Given the description of an element on the screen output the (x, y) to click on. 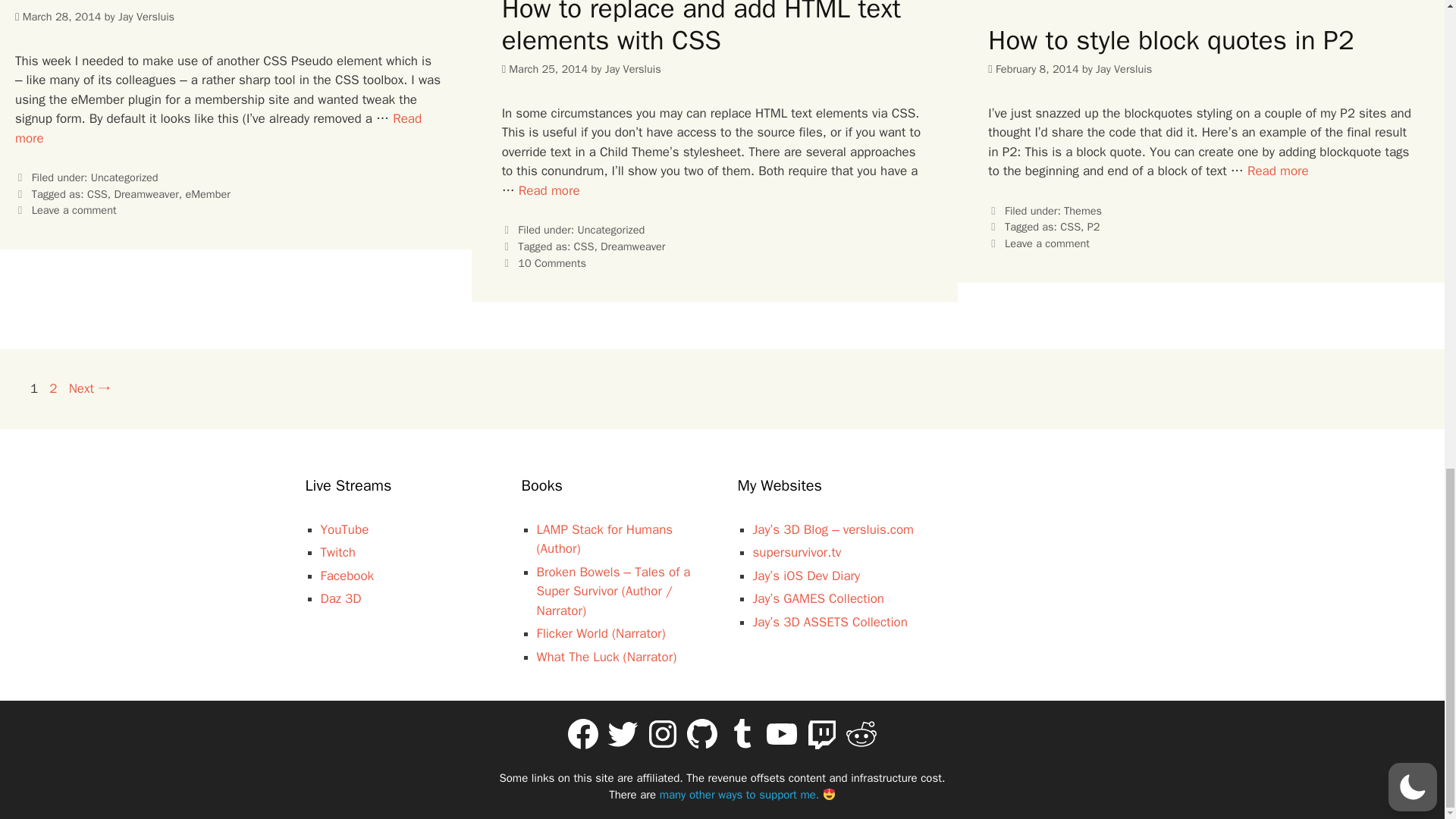
How to target a specific row in a table via CSS (218, 128)
View all posts by Jay Versluis (633, 69)
View all posts by Jay Versluis (1123, 69)
View all posts by Jay Versluis (145, 16)
How to replace and add HTML text elements with CSS (548, 190)
